Given the description of an element on the screen output the (x, y) to click on. 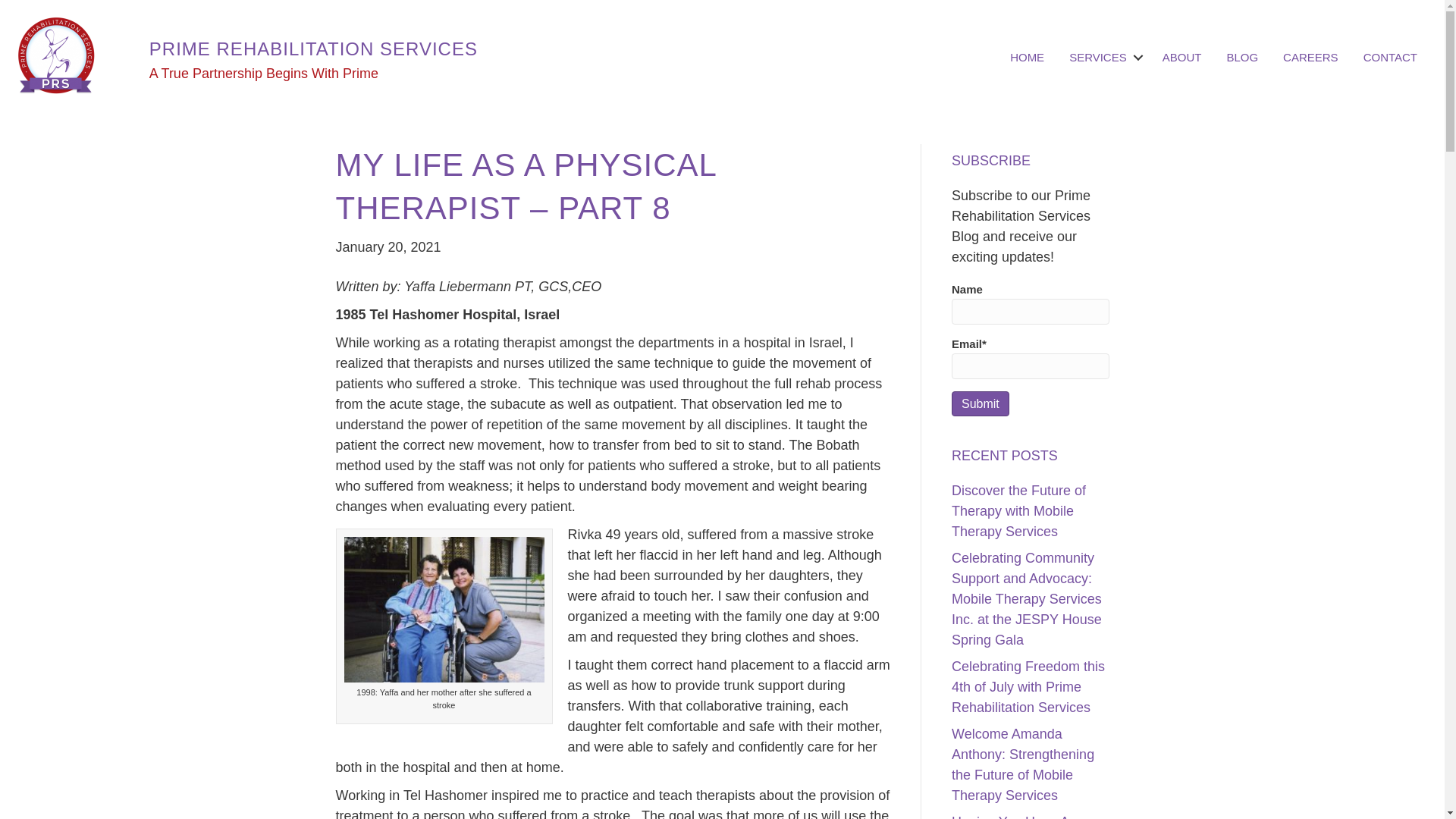
BLOG (1241, 57)
cropped-PRS-LOGO-5-min.png (56, 56)
PRIME REHABILITATION SERVICES (313, 48)
CAREERS (1311, 57)
Submit (980, 403)
SERVICES (1103, 57)
Hoping You Have A Happy Holiday and New Years (1024, 816)
SkyCare MEDIA (1075, 796)
CONTACT (1390, 57)
HOME (1027, 57)
Discover the Future of Therapy with Mobile Therapy Services (1019, 510)
Submit (980, 403)
